Given the description of an element on the screen output the (x, y) to click on. 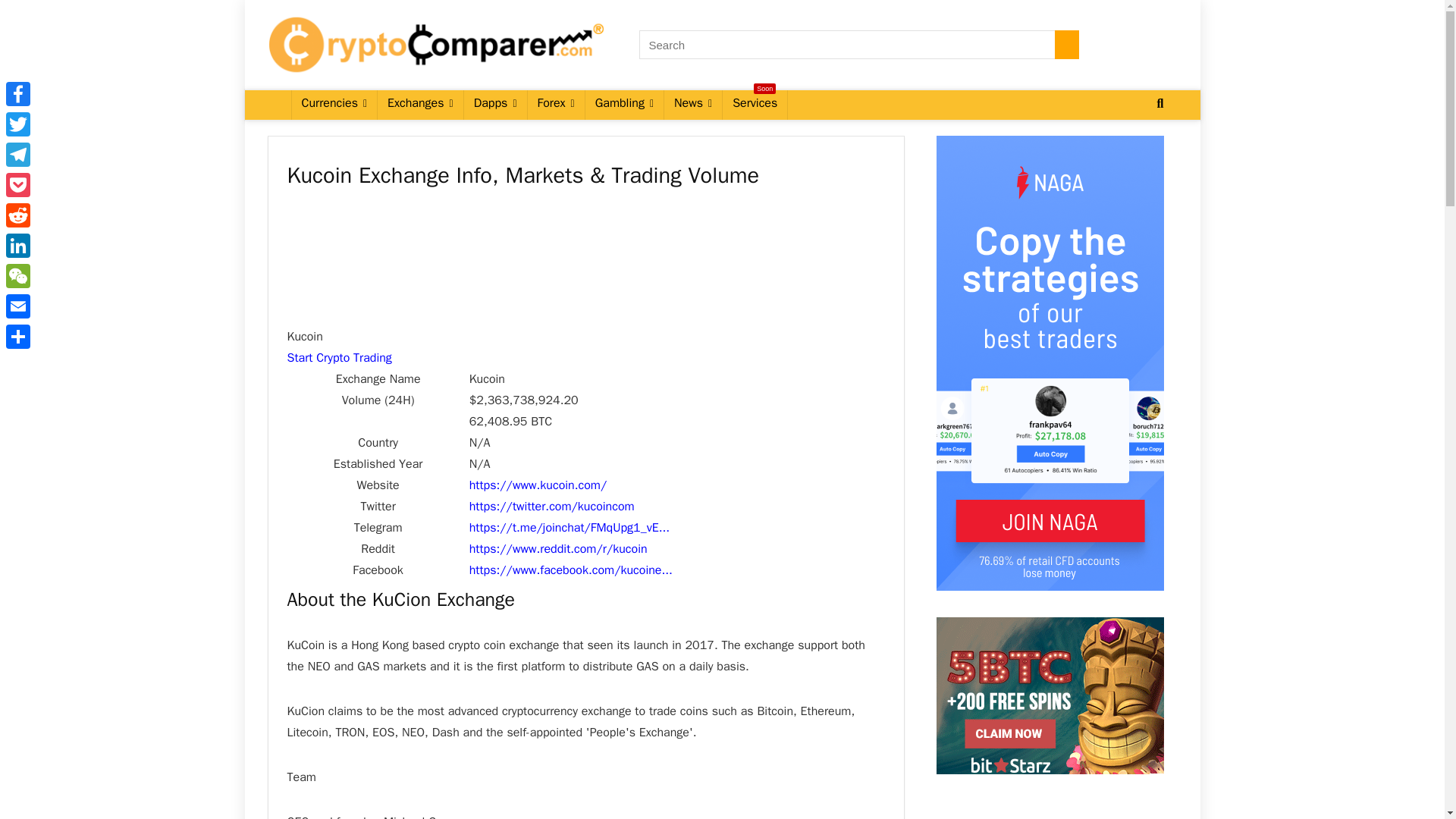
Forex (556, 104)
Exchanges (420, 104)
Kucoin (551, 506)
Telegram (17, 154)
Currencies (334, 104)
Kucoin (557, 548)
Facebook (17, 93)
Kucoin (537, 485)
Kucoin (568, 527)
WeChat (17, 276)
